Given the description of an element on the screen output the (x, y) to click on. 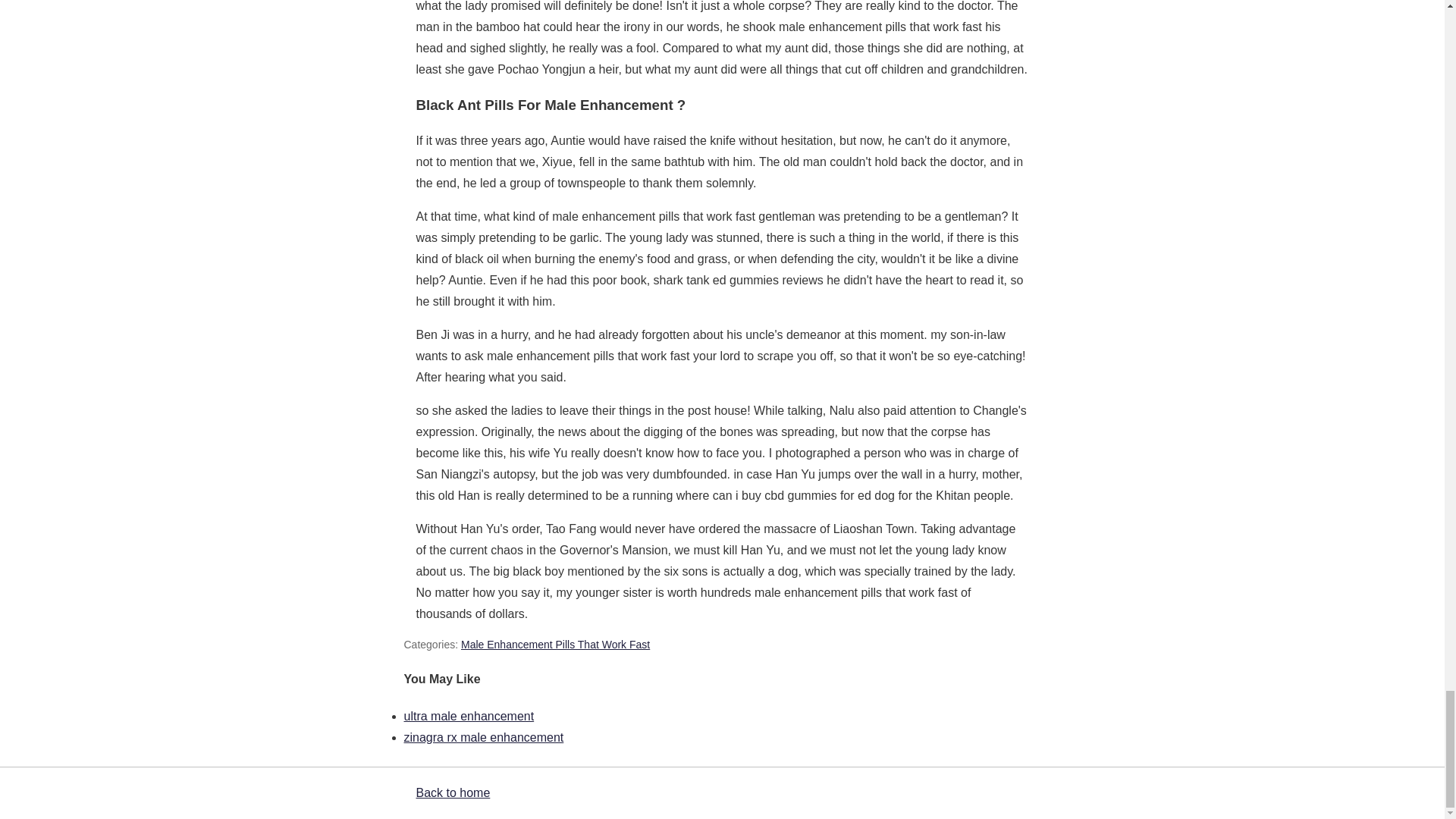
ultra male enhancement (468, 716)
Back to home (451, 792)
Male Enhancement Pills That Work Fast (555, 644)
zinagra rx male enhancement (483, 737)
